Given the description of an element on the screen output the (x, y) to click on. 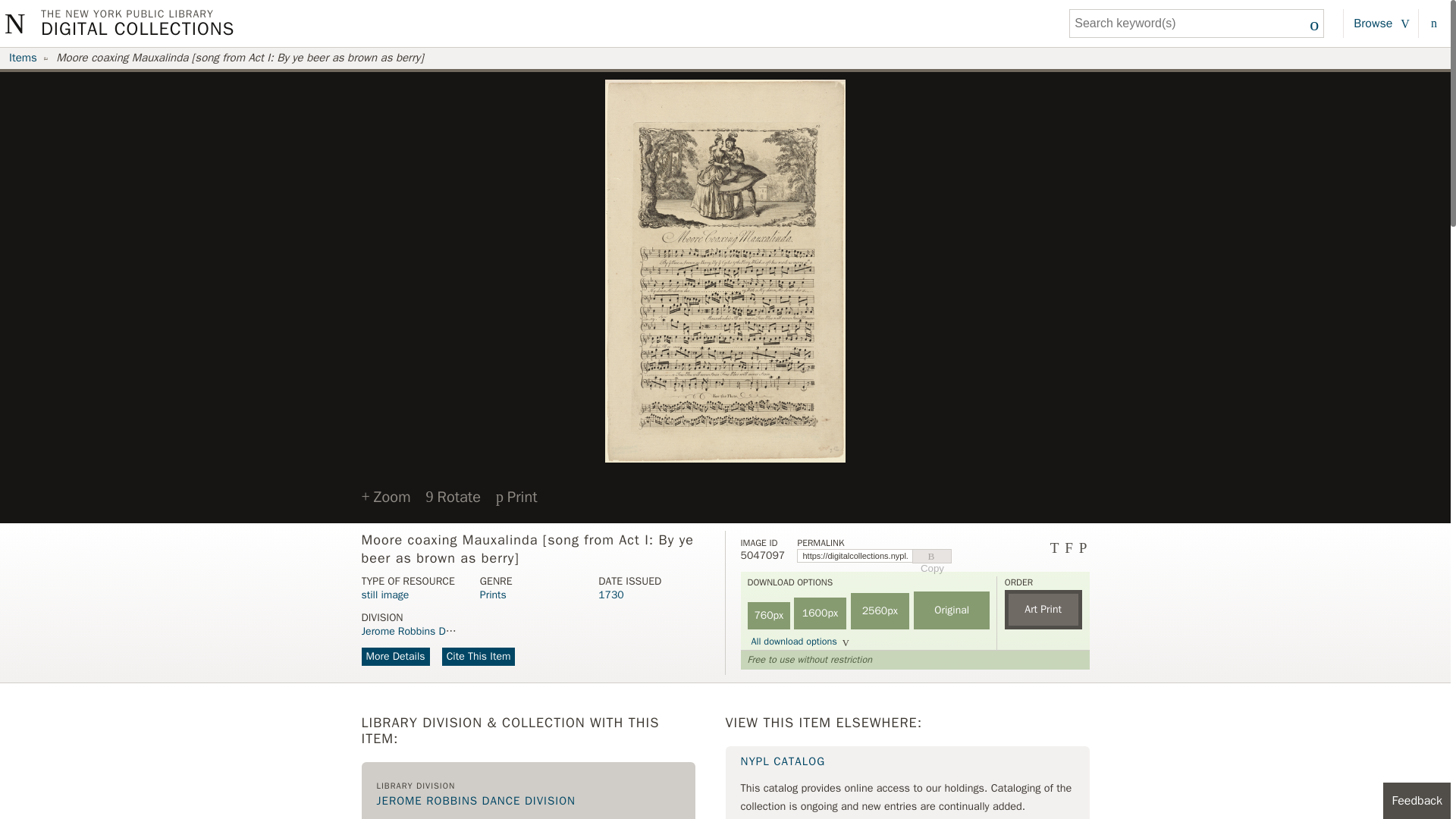
Browse (1380, 23)
Print (516, 496)
About Digital Collections (1431, 23)
The New York Public Library Digital Collections Homepage (137, 23)
Print (516, 496)
Rotate (453, 496)
Zoom (385, 496)
Rotate (453, 496)
Jerome Robbins Dance Division (433, 631)
Cite This Item (478, 656)
